Given the description of an element on the screen output the (x, y) to click on. 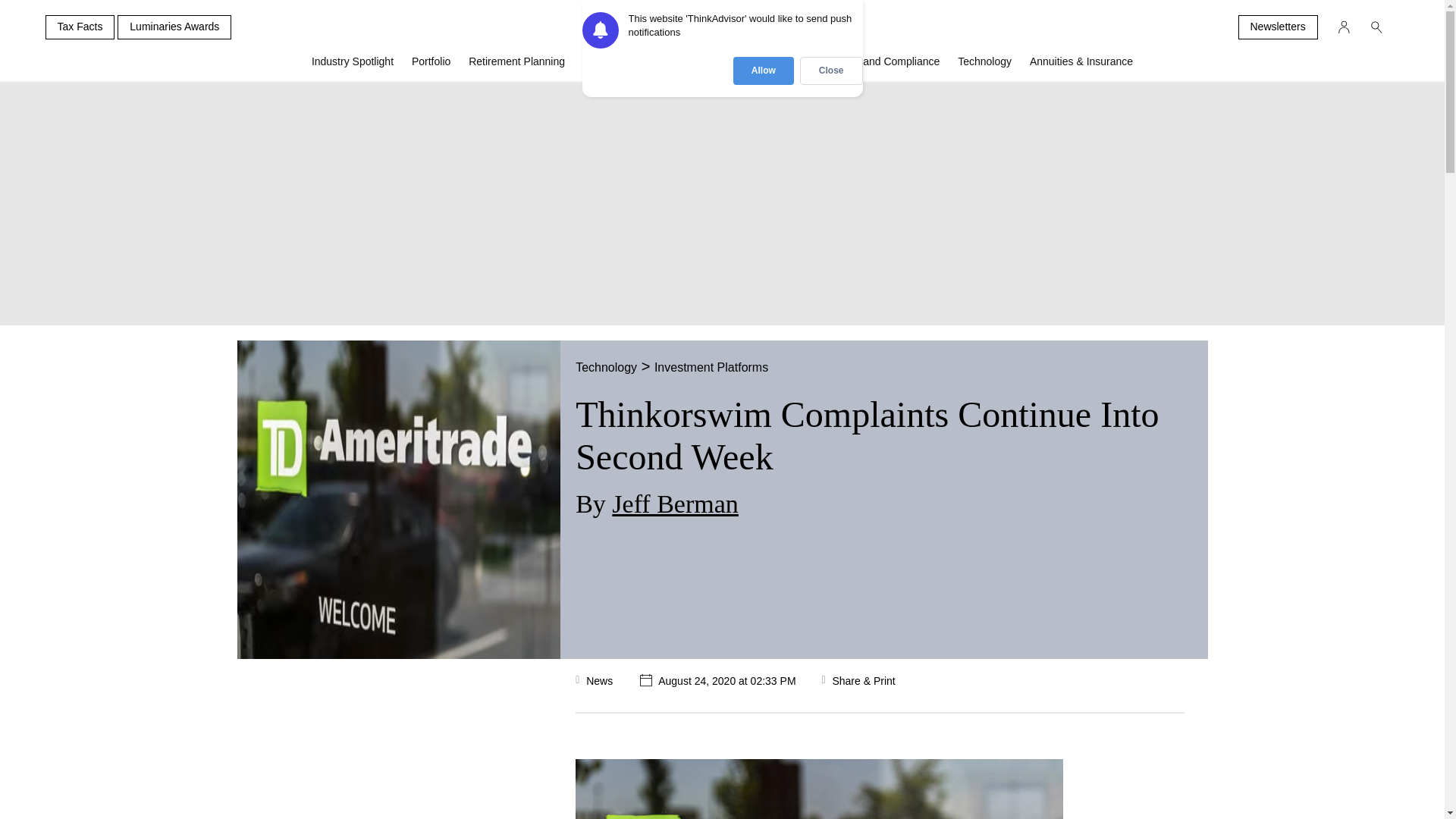
3rd party ad content (372, 746)
Industry Spotlight (352, 67)
Newsletters (1277, 27)
Tax Facts (80, 27)
TD Ameritrade sign (818, 789)
Luminaries Awards (174, 27)
